Given the description of an element on the screen output the (x, y) to click on. 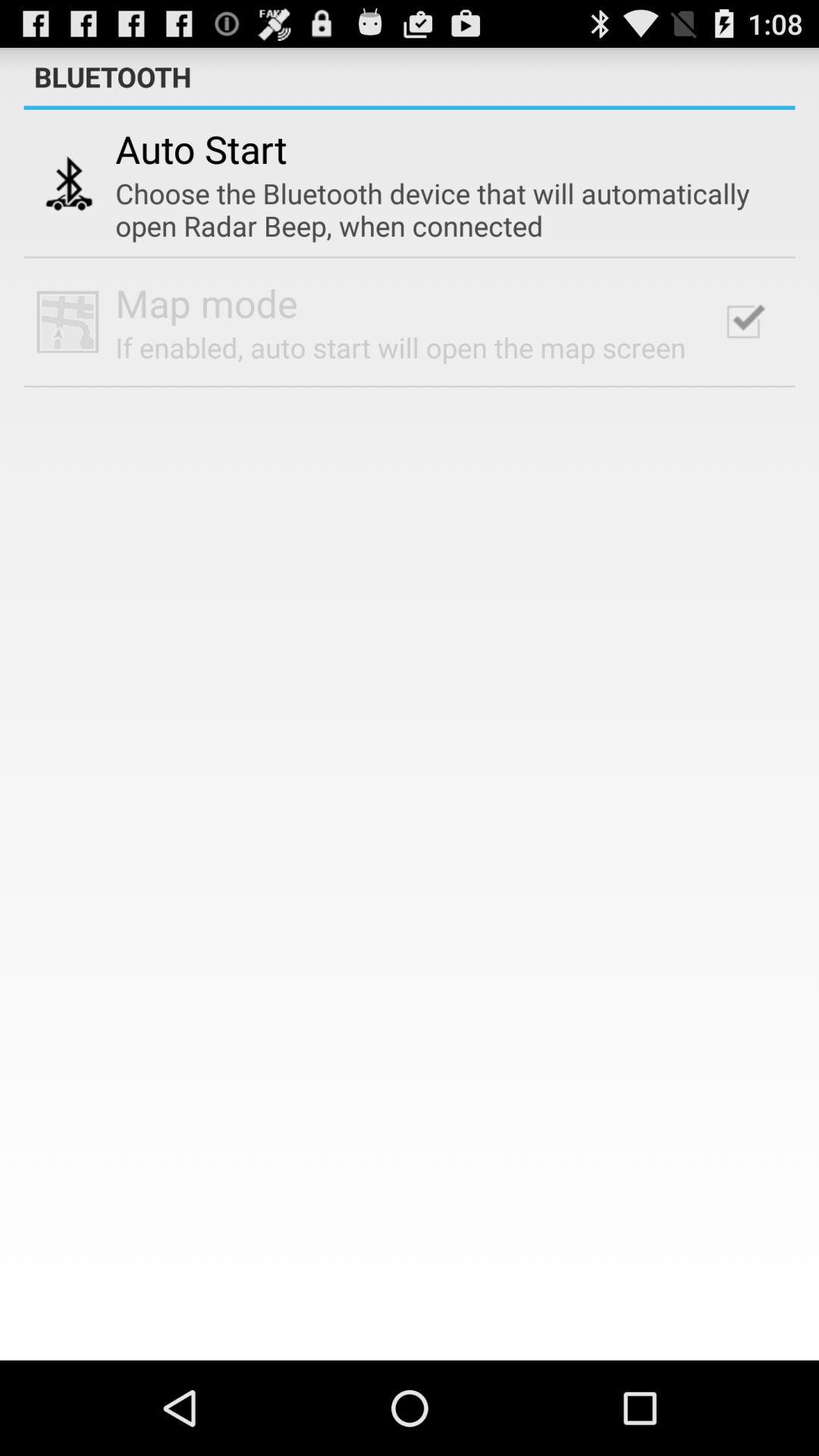
choose the app above the if enabled auto (206, 302)
